Given the description of an element on the screen output the (x, y) to click on. 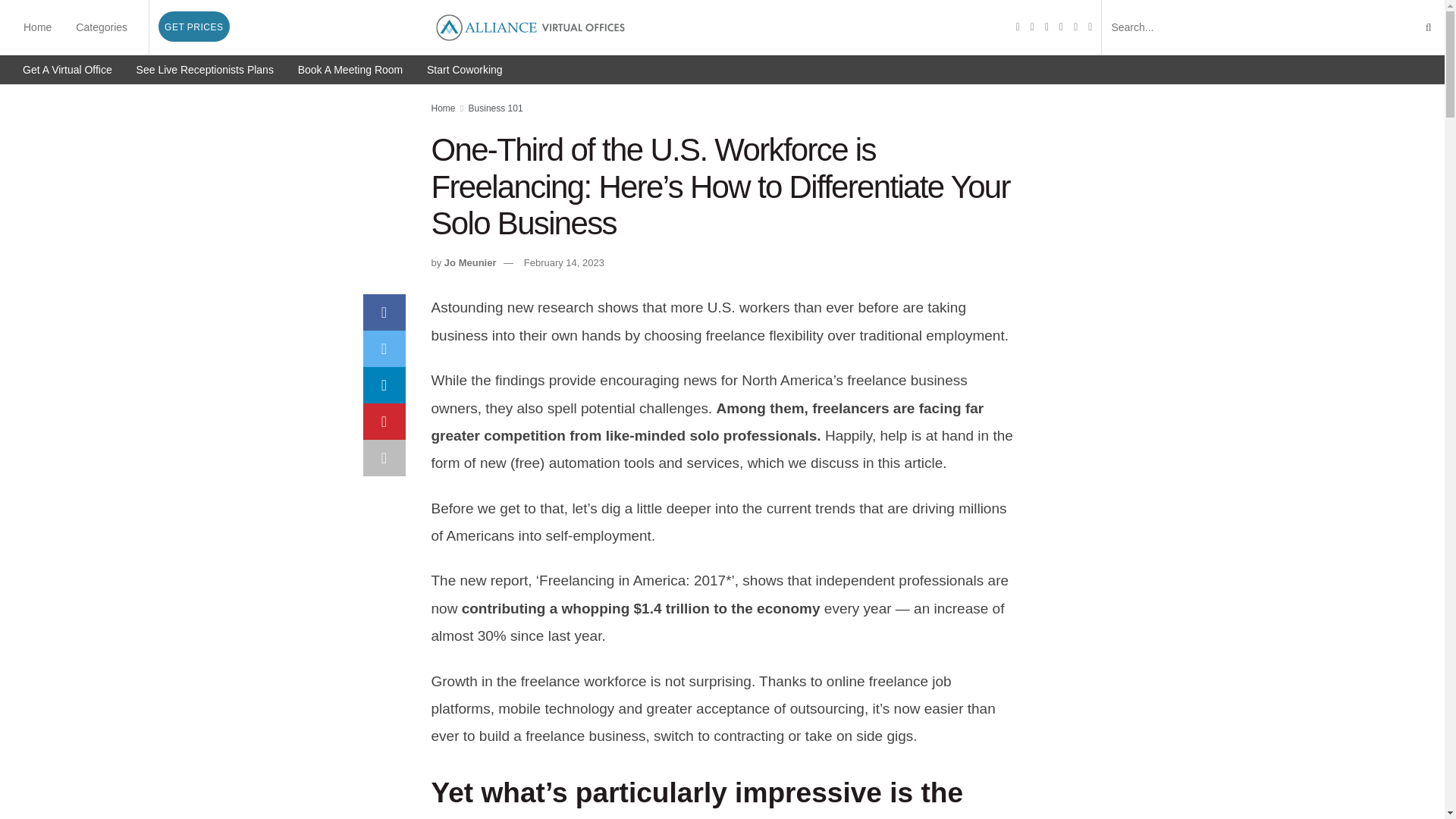
GET PRICES (193, 26)
Get A Virtual Office (67, 69)
See Live Receptionists Plans (204, 69)
Start Coworking (464, 69)
Categories (101, 27)
Home (37, 27)
Home (442, 108)
Business 101 (495, 108)
Book A Meeting Room (350, 69)
